Given the description of an element on the screen output the (x, y) to click on. 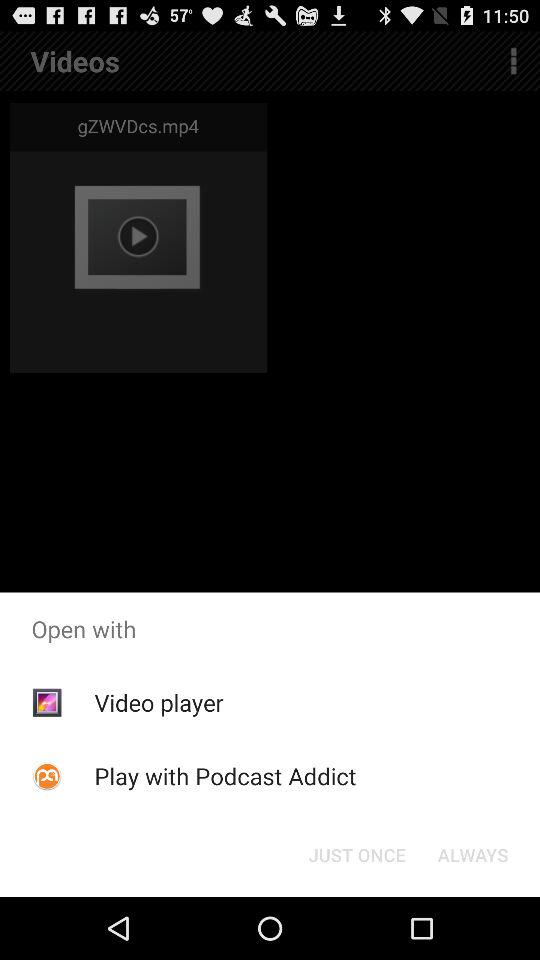
choose the button to the right of the just once icon (472, 854)
